Given the description of an element on the screen output the (x, y) to click on. 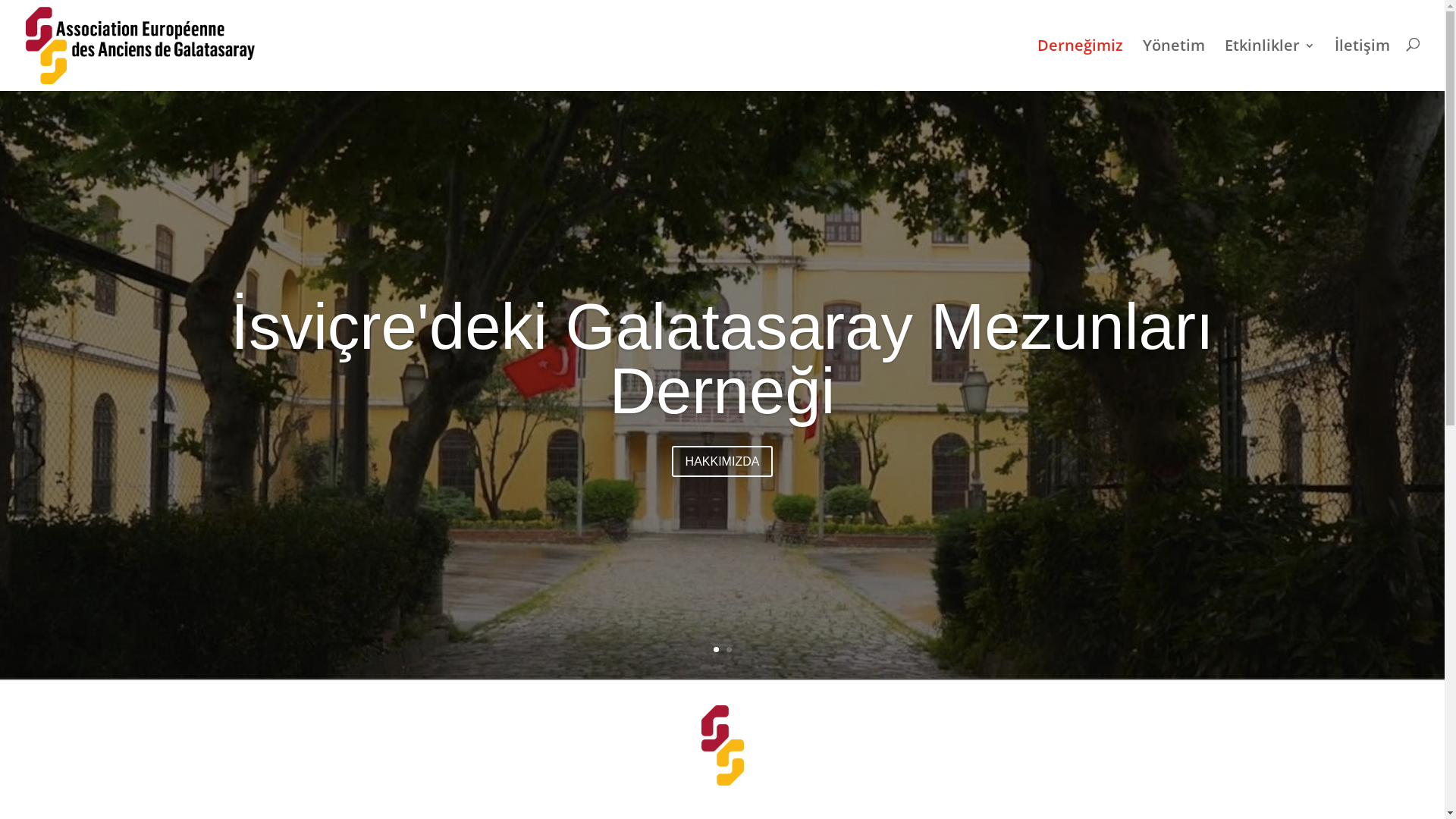
2 Element type: text (728, 649)
Etkinlikler Element type: text (1269, 64)
1 Element type: text (715, 649)
HAKKIMIZDA Element type: text (722, 460)
